Given the description of an element on the screen output the (x, y) to click on. 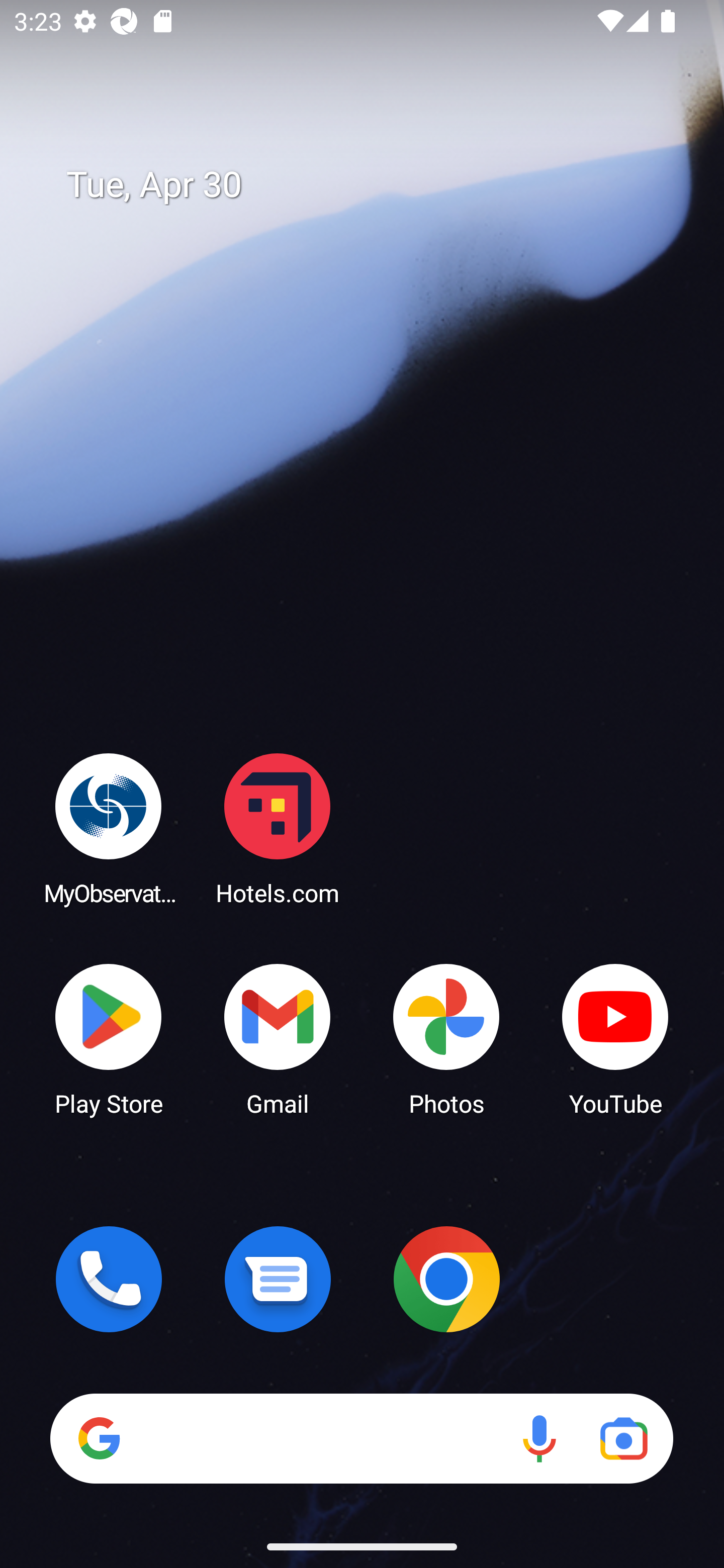
Tue, Apr 30 (375, 184)
MyObservatory (108, 828)
Hotels.com (277, 828)
Play Store (108, 1038)
Gmail (277, 1038)
Photos (445, 1038)
YouTube (615, 1038)
Phone (108, 1279)
Messages (277, 1279)
Chrome (446, 1279)
Voice search (539, 1438)
Google Lens (623, 1438)
